Given the description of an element on the screen output the (x, y) to click on. 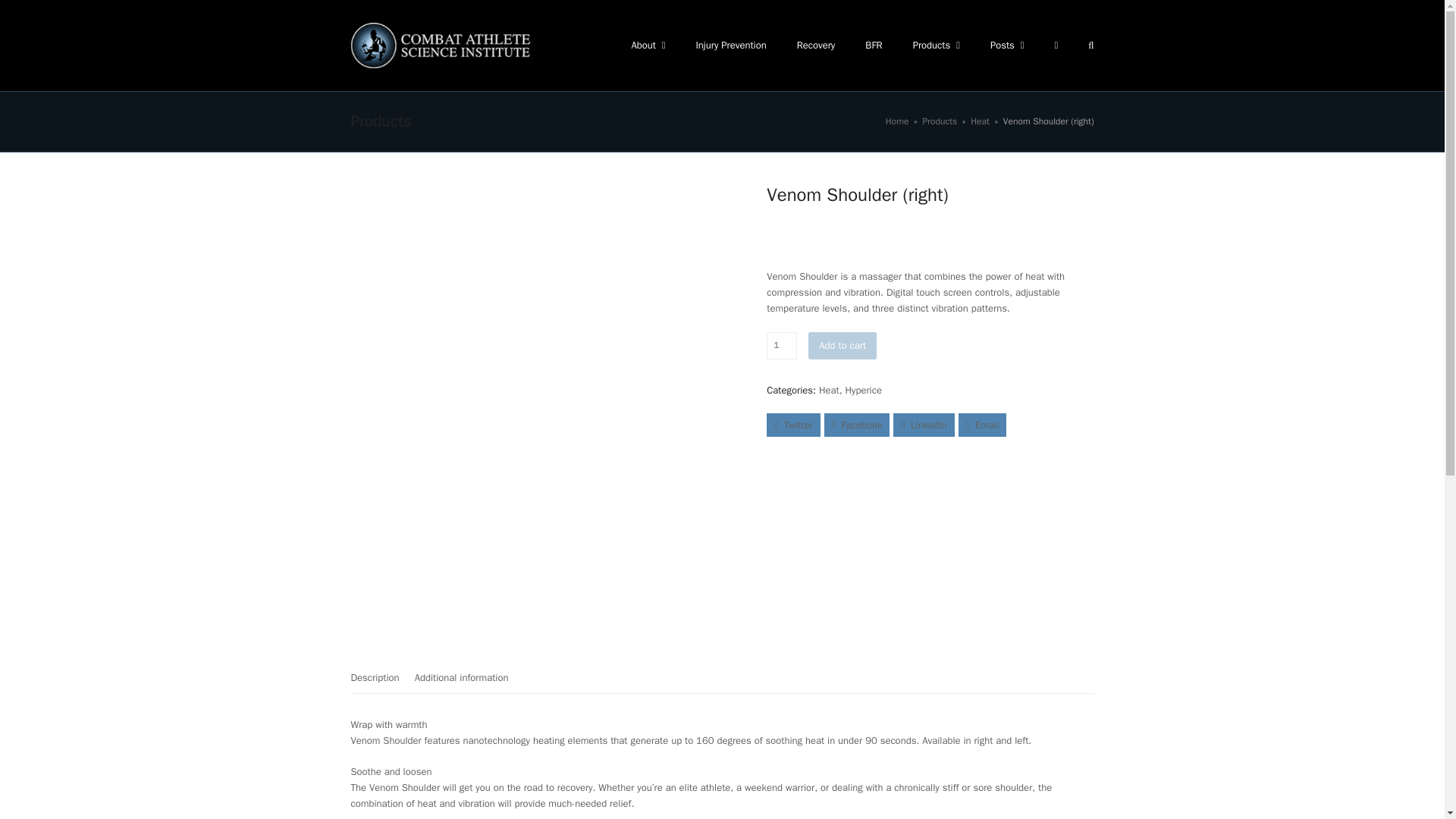
Heat (829, 390)
Description (374, 677)
Injury Prevention (730, 45)
Products (938, 121)
Additional information (461, 677)
Twitter (793, 424)
Posts (1006, 45)
About (648, 45)
Facebook (856, 424)
Home (896, 121)
